Given the description of an element on the screen output the (x, y) to click on. 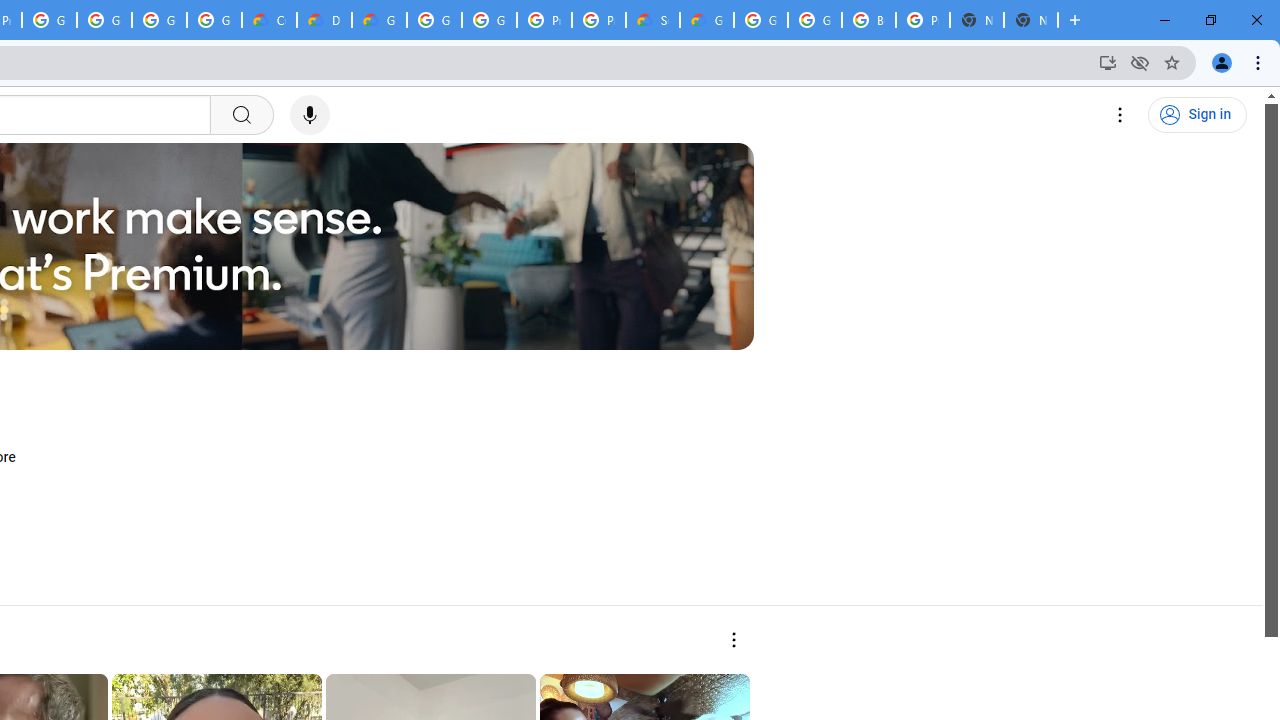
Search with your voice (309, 115)
Google Cloud Platform (815, 20)
Install YouTube (1107, 62)
New Tab (1030, 20)
Customer Care | Google Cloud (268, 20)
Google Workspace - Specific Terms (158, 20)
